Given the description of an element on the screen output the (x, y) to click on. 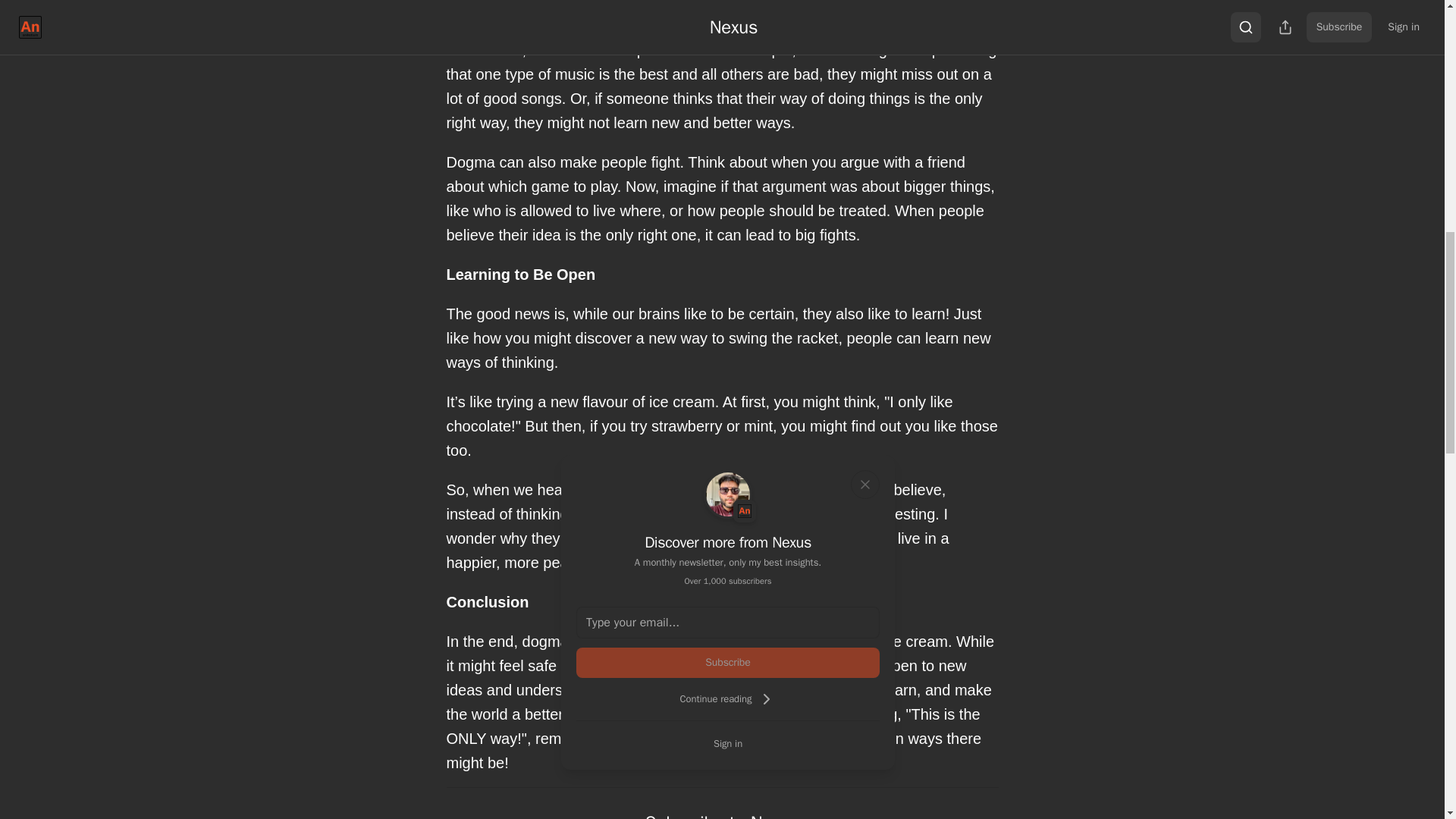
Subscribe (727, 662)
Sign in (727, 743)
